Given the description of an element on the screen output the (x, y) to click on. 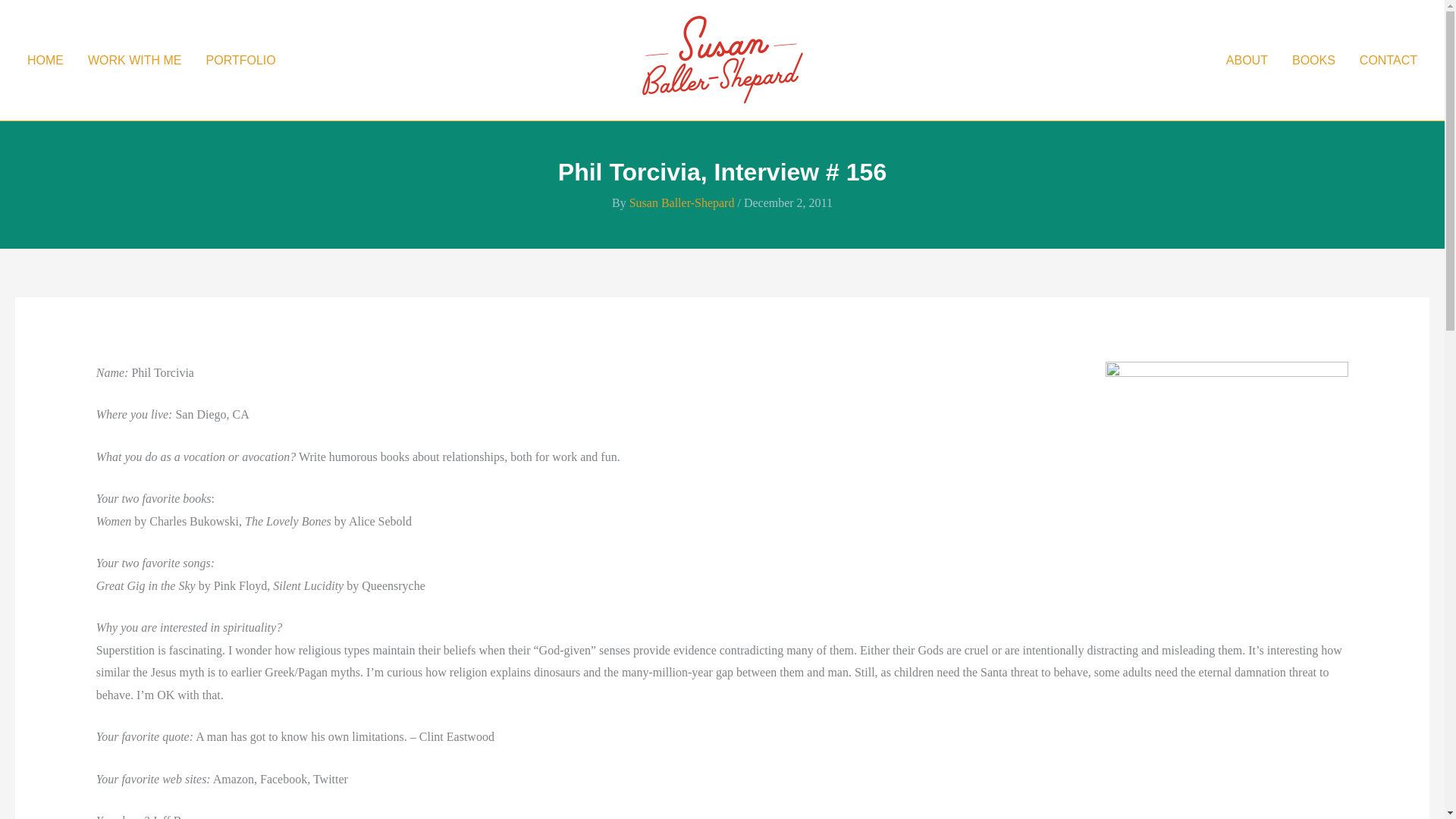
BOOKS (1313, 60)
CONTACT (1388, 60)
View all posts by Susan Baller-Shepard (683, 202)
WORK WITH ME (134, 60)
HOME (44, 60)
PORTFOLIO (240, 60)
Susan Baller-Shepard (683, 202)
ABOUT (1246, 60)
